Given the description of an element on the screen output the (x, y) to click on. 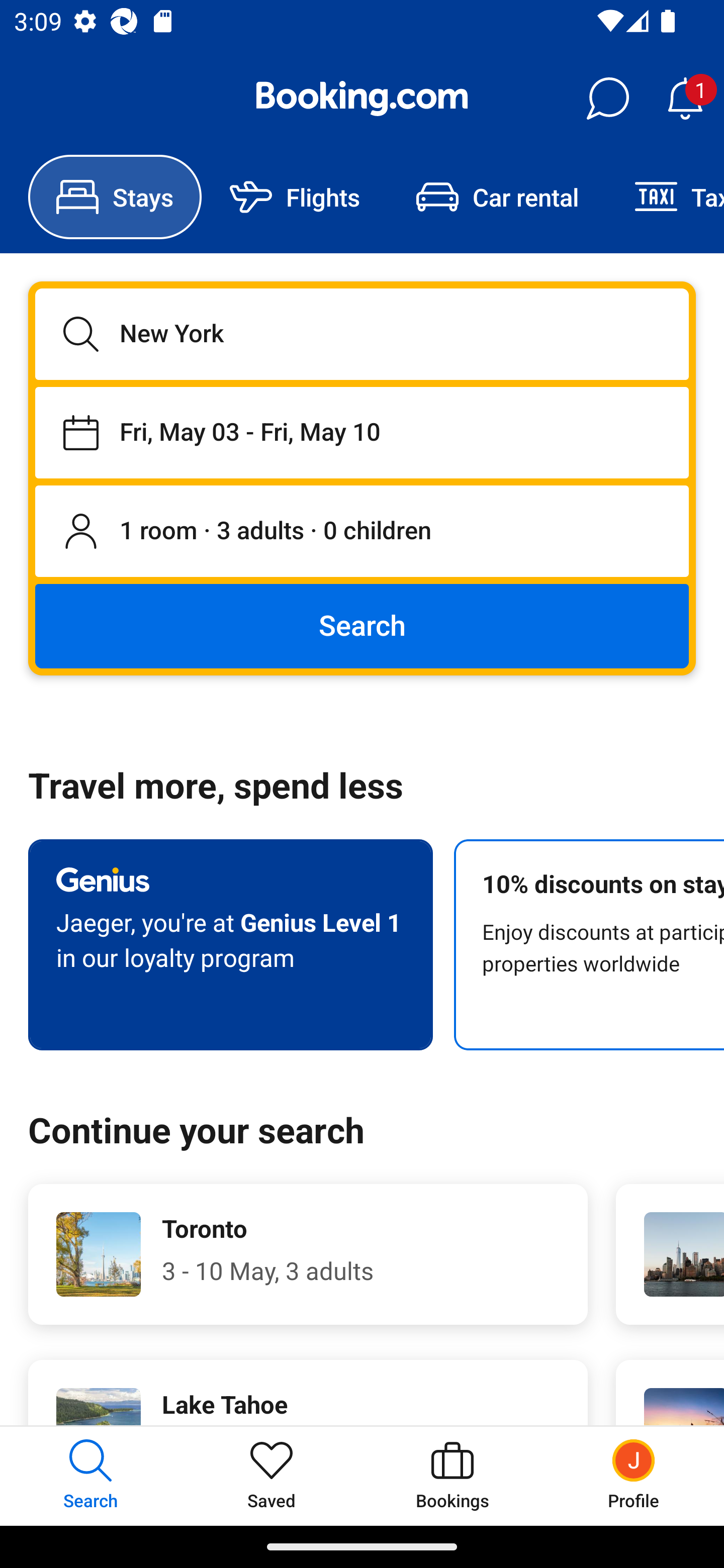
Messages (607, 98)
Notifications (685, 98)
Stays (114, 197)
Flights (294, 197)
Car rental (497, 197)
Taxi (665, 197)
New York (361, 333)
Staying from Fri, May 03 until Fri, May 10 (361, 432)
1 room, 3 adults, 0 children (361, 531)
Search (361, 625)
Toronto 3 - 10 May, 3 adults (307, 1253)
Saved (271, 1475)
Bookings (452, 1475)
Profile (633, 1475)
